Given the description of an element on the screen output the (x, y) to click on. 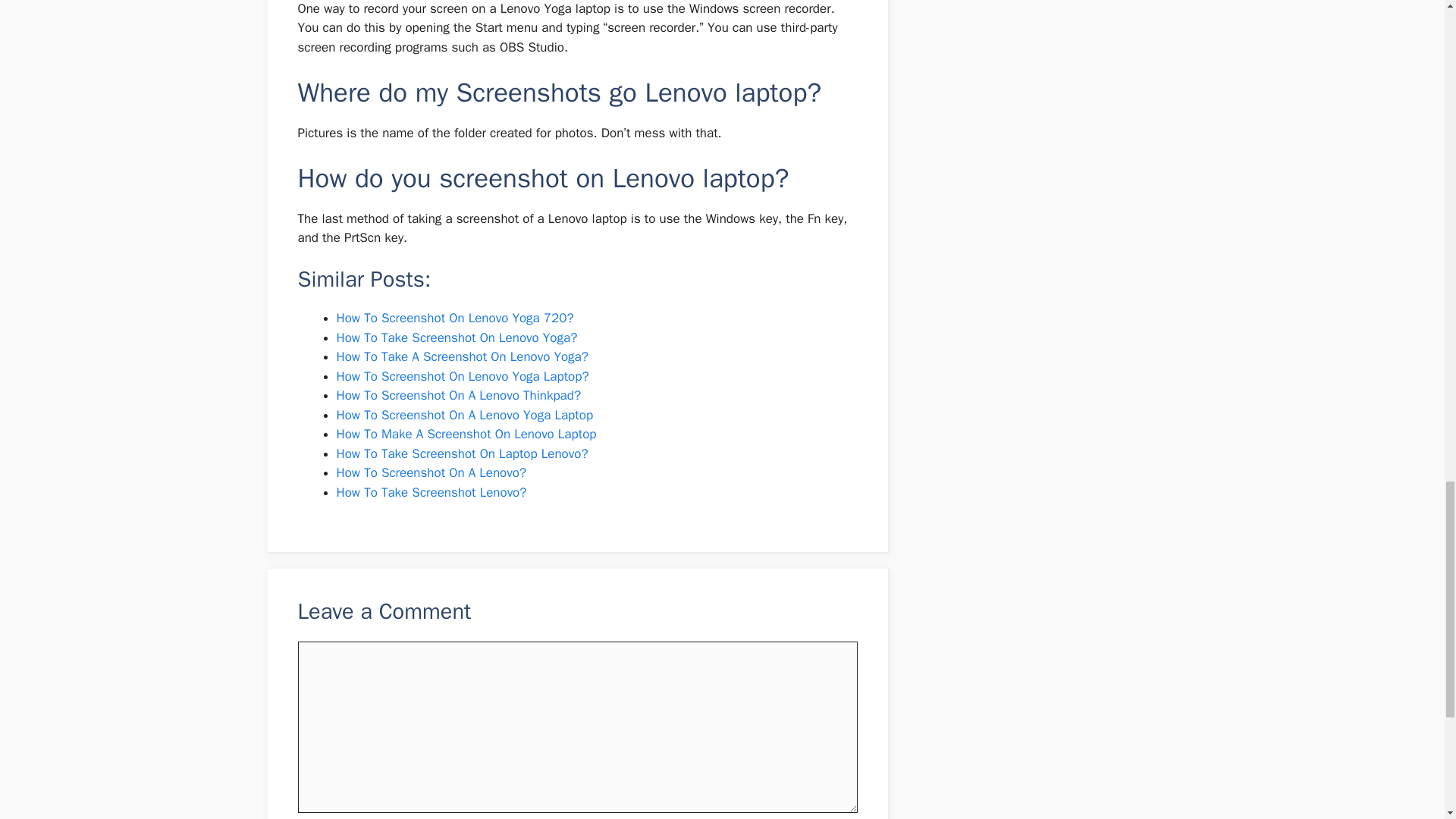
How To Screenshot On Lenovo Yoga 720? (454, 317)
How To Take Screenshot On Laptop Lenovo? (462, 453)
How To Screenshot On A Lenovo Thinkpad? (458, 395)
How To Screenshot On A Lenovo? (431, 472)
How To Take A Screenshot On Lenovo Yoga? (462, 356)
How To Screenshot On A Lenovo? (431, 472)
How To Screenshot On A Lenovo Yoga Laptop (465, 415)
How To Make A Screenshot On Lenovo Laptop (466, 433)
How To Screenshot On Lenovo Yoga 720? (454, 317)
How To Take Screenshot On Laptop Lenovo? (462, 453)
